Given the description of an element on the screen output the (x, y) to click on. 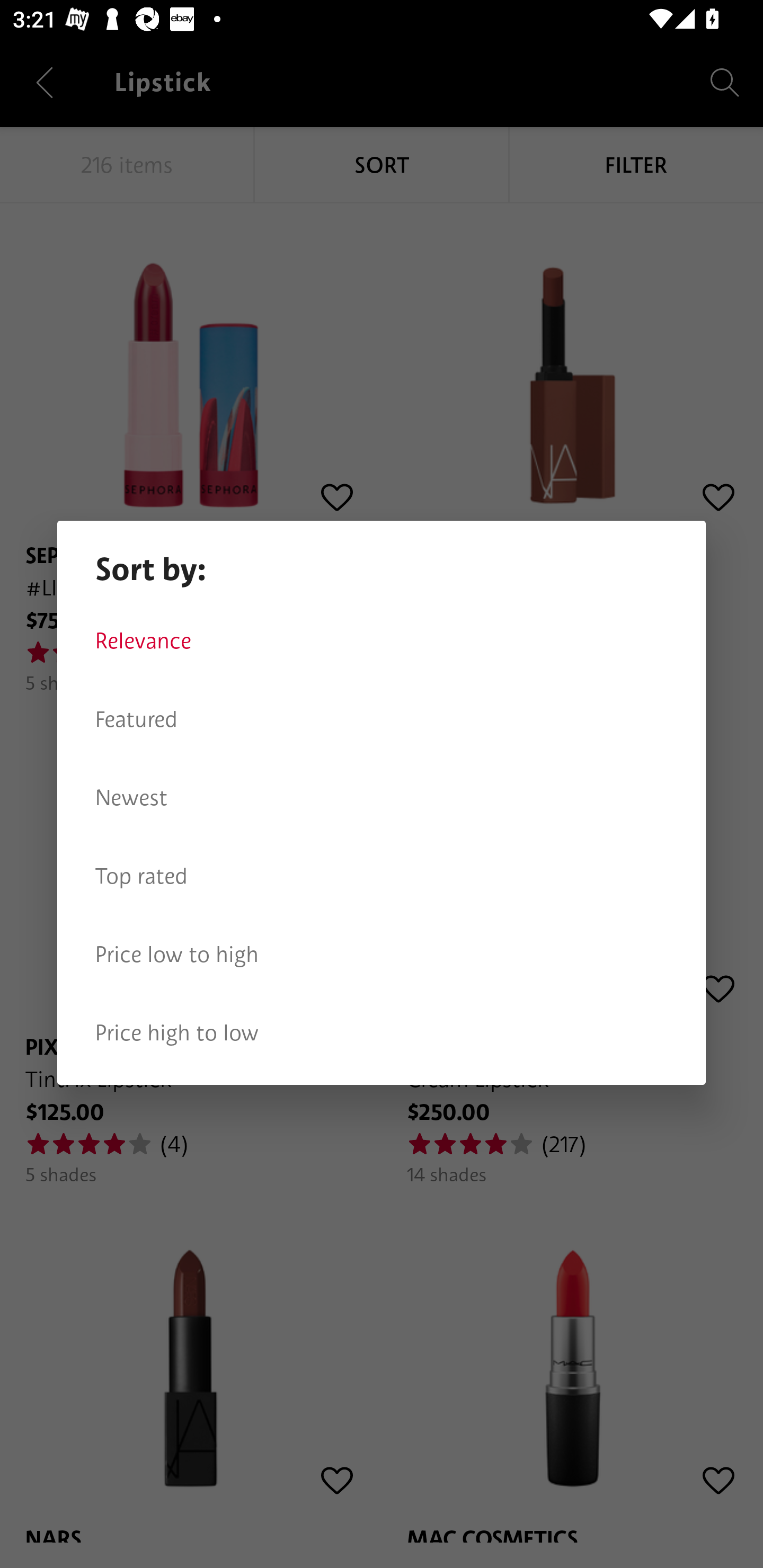
Relevance (381, 641)
Featured (381, 719)
Newest (381, 797)
Top rated (381, 876)
Price low to high (381, 954)
Price high to low (381, 1033)
